Given the description of an element on the screen output the (x, y) to click on. 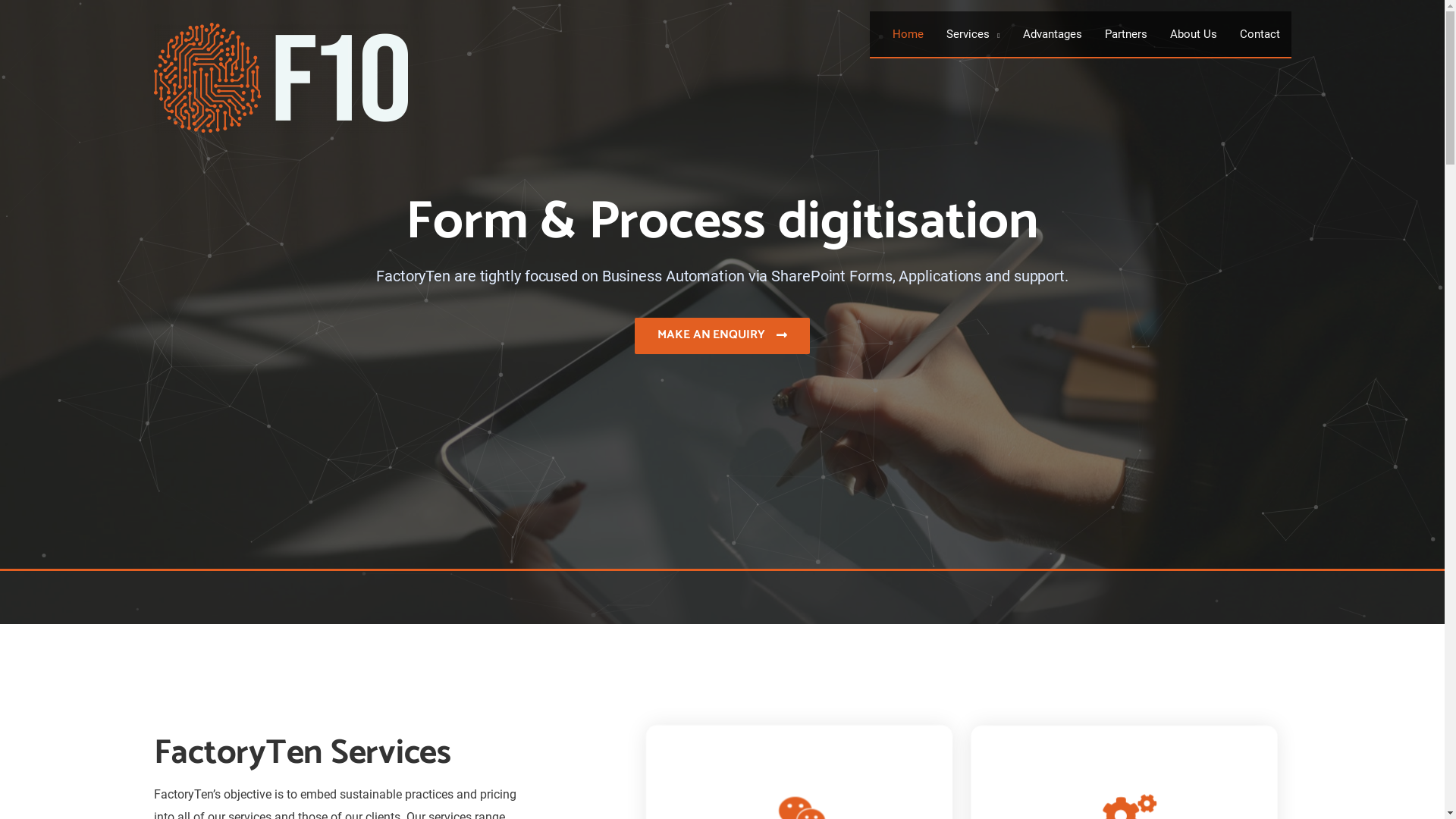
Advantages Element type: text (1052, 33)
Home Element type: text (908, 33)
Services Element type: text (972, 33)
Partners Element type: text (1125, 33)
MAKE AN ENQUIRY Element type: text (721, 334)
About Us Element type: text (1193, 33)
Contact Element type: text (1259, 33)
